Given the description of an element on the screen output the (x, y) to click on. 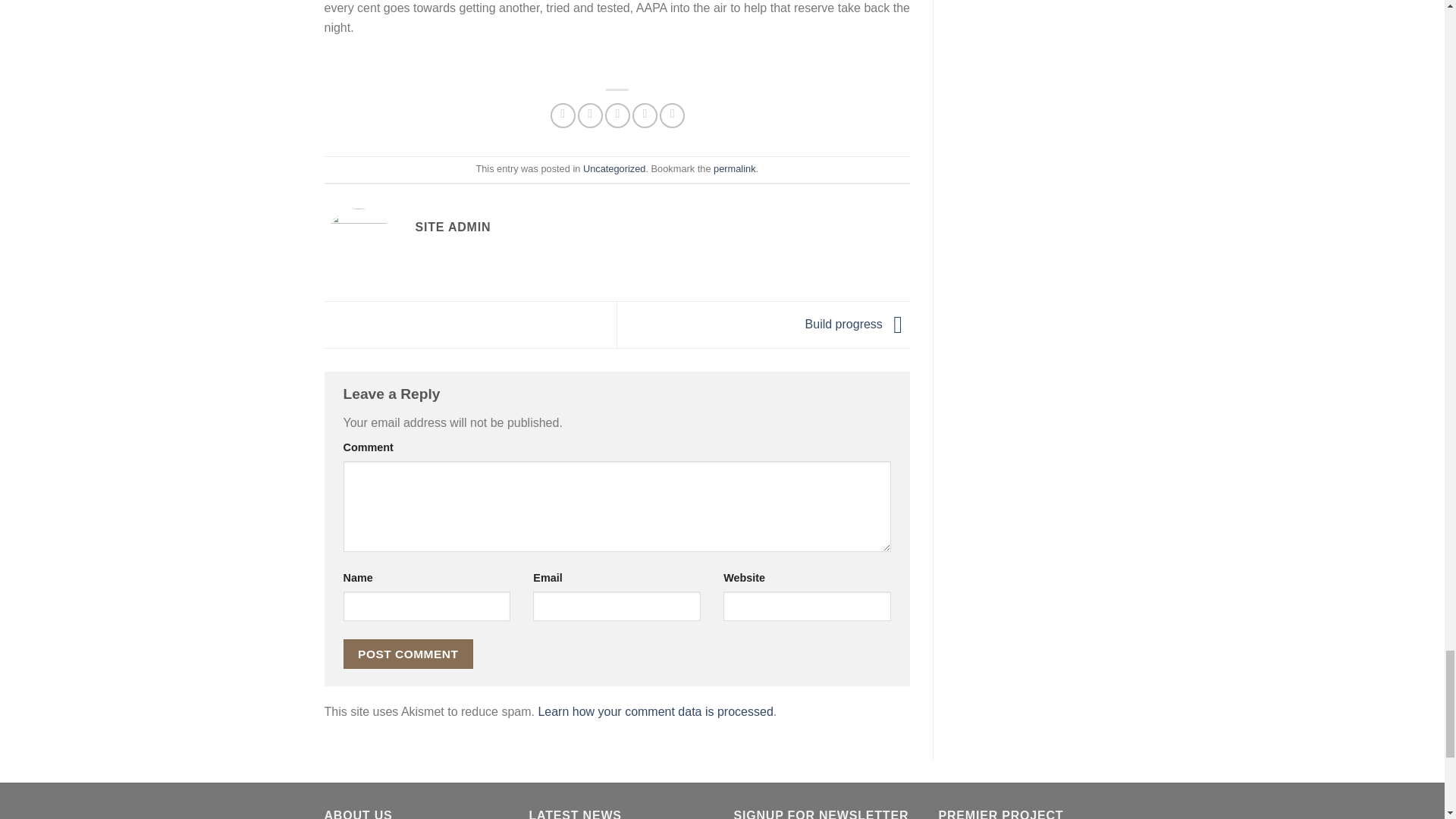
Uncategorized (614, 168)
permalink (734, 168)
Post Comment (407, 654)
Build progress (857, 323)
Permalink to Welcome to Tihlo henhla (734, 168)
Learn how your comment data is processed (655, 711)
Post Comment (407, 654)
